Given the description of an element on the screen output the (x, y) to click on. 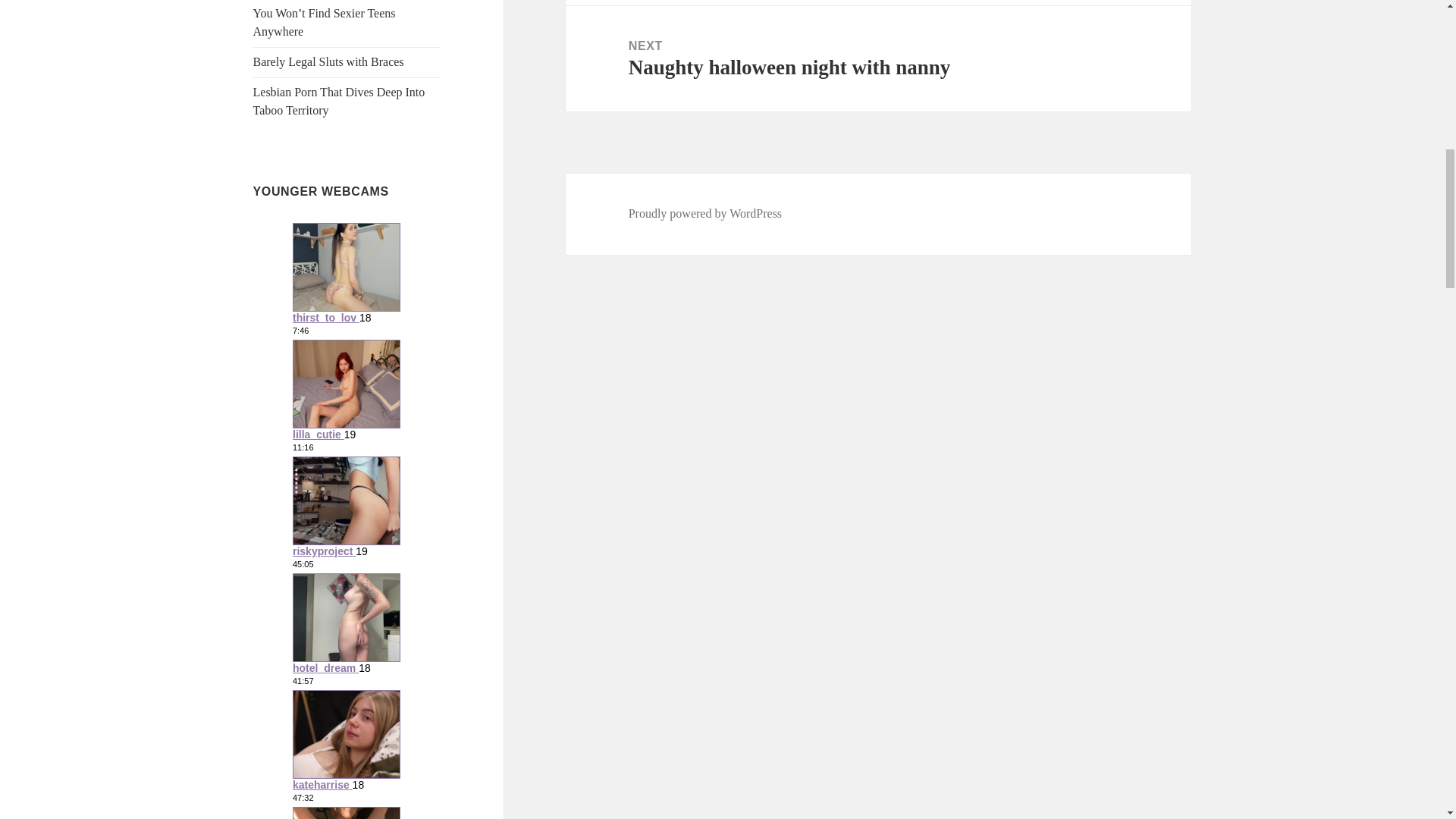
Lesbian Porn That Dives Deep Into Taboo Territory (339, 101)
Barely Legal Sluts with Braces (328, 61)
